Given the description of an element on the screen output the (x, y) to click on. 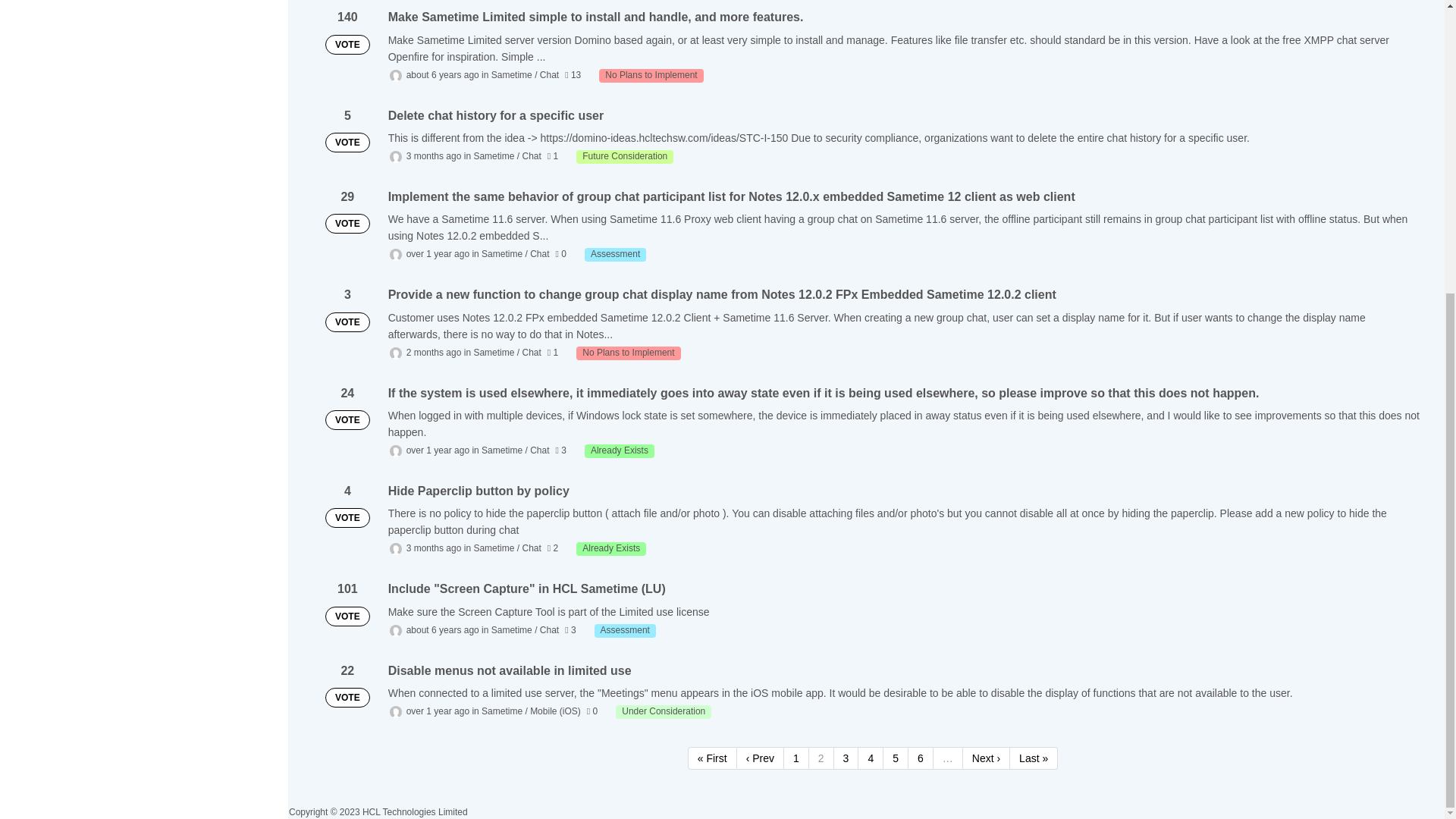
No Plans to Implement (650, 75)
Under Consideration (663, 712)
Future Consideration (624, 156)
No Plans to Implement (627, 353)
Already Exists (619, 450)
Already Exists (611, 549)
Assessment (625, 631)
Assessment (615, 254)
